Given the description of an element on the screen output the (x, y) to click on. 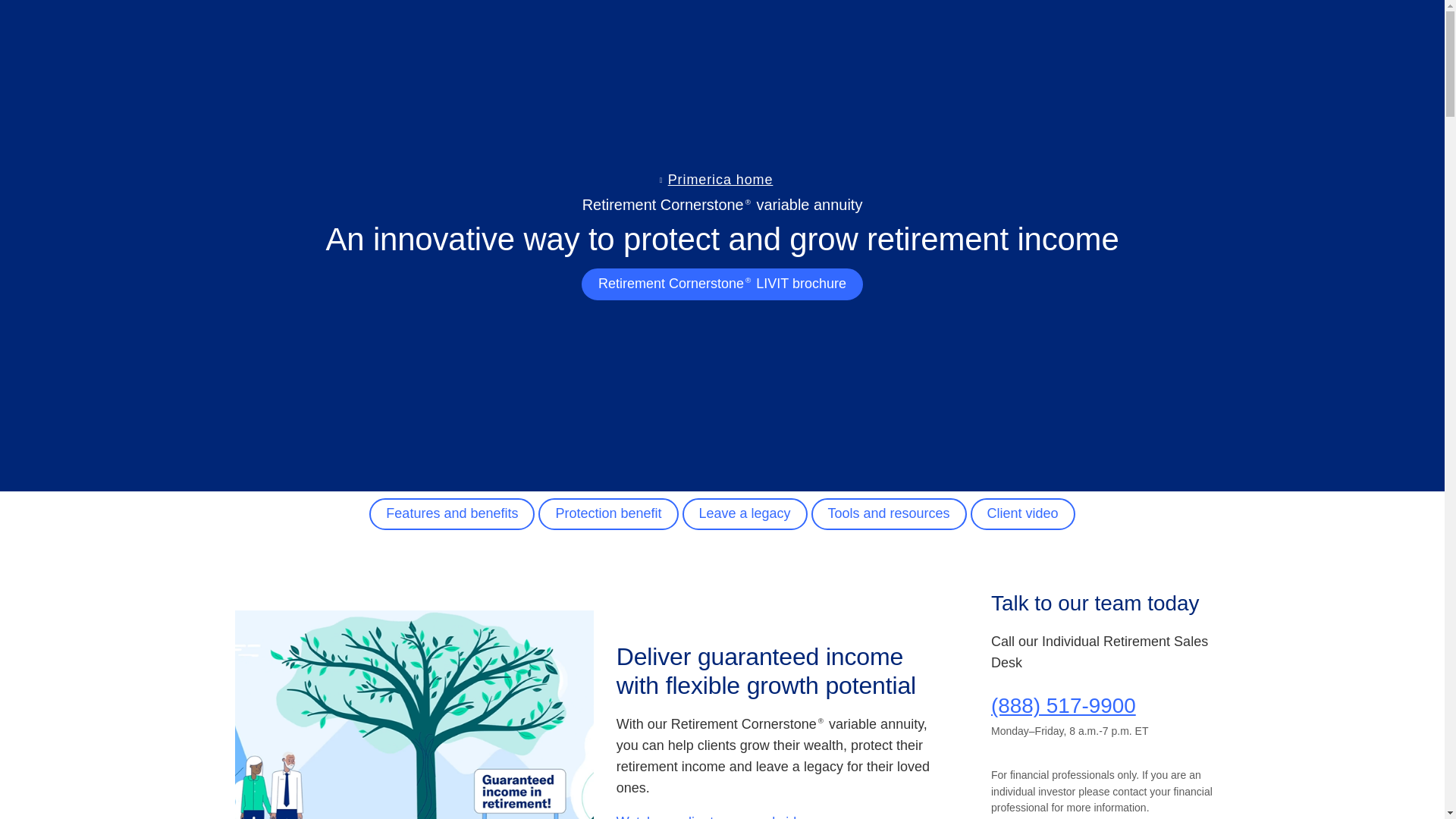
Protection benefit (608, 513)
Tools and resources (888, 513)
Primerica home (720, 179)
Leave a legacy (745, 513)
Watch our client-approved video (712, 816)
Client video (1023, 513)
Features and benefits (451, 513)
